Given the description of an element on the screen output the (x, y) to click on. 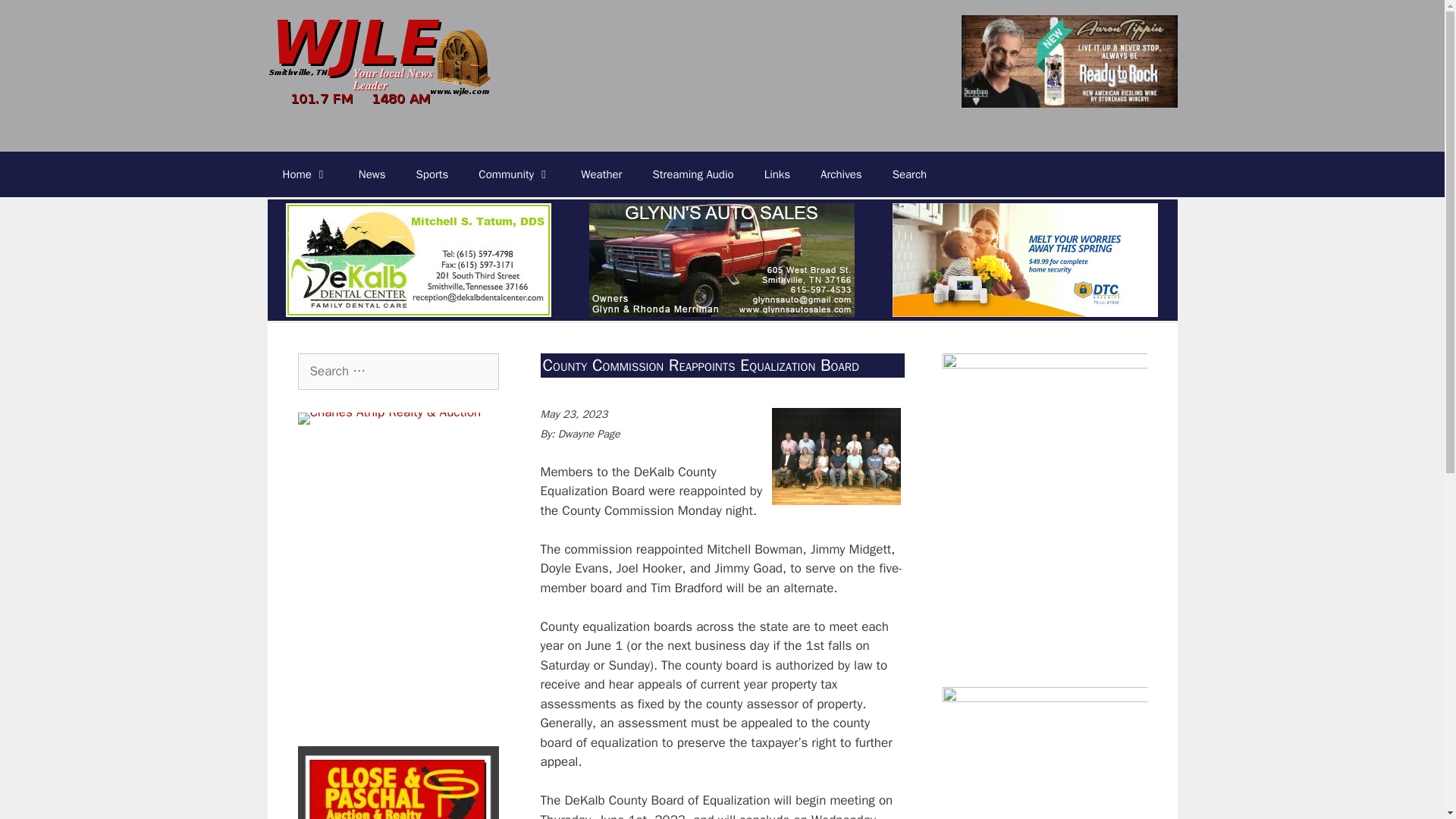
Search for: (397, 370)
Links (777, 174)
Weather (601, 174)
Streaming Audio (692, 174)
Search (909, 174)
Sports (432, 174)
Home (304, 174)
Community (514, 174)
News (372, 174)
Archives (841, 174)
